Given the description of an element on the screen output the (x, y) to click on. 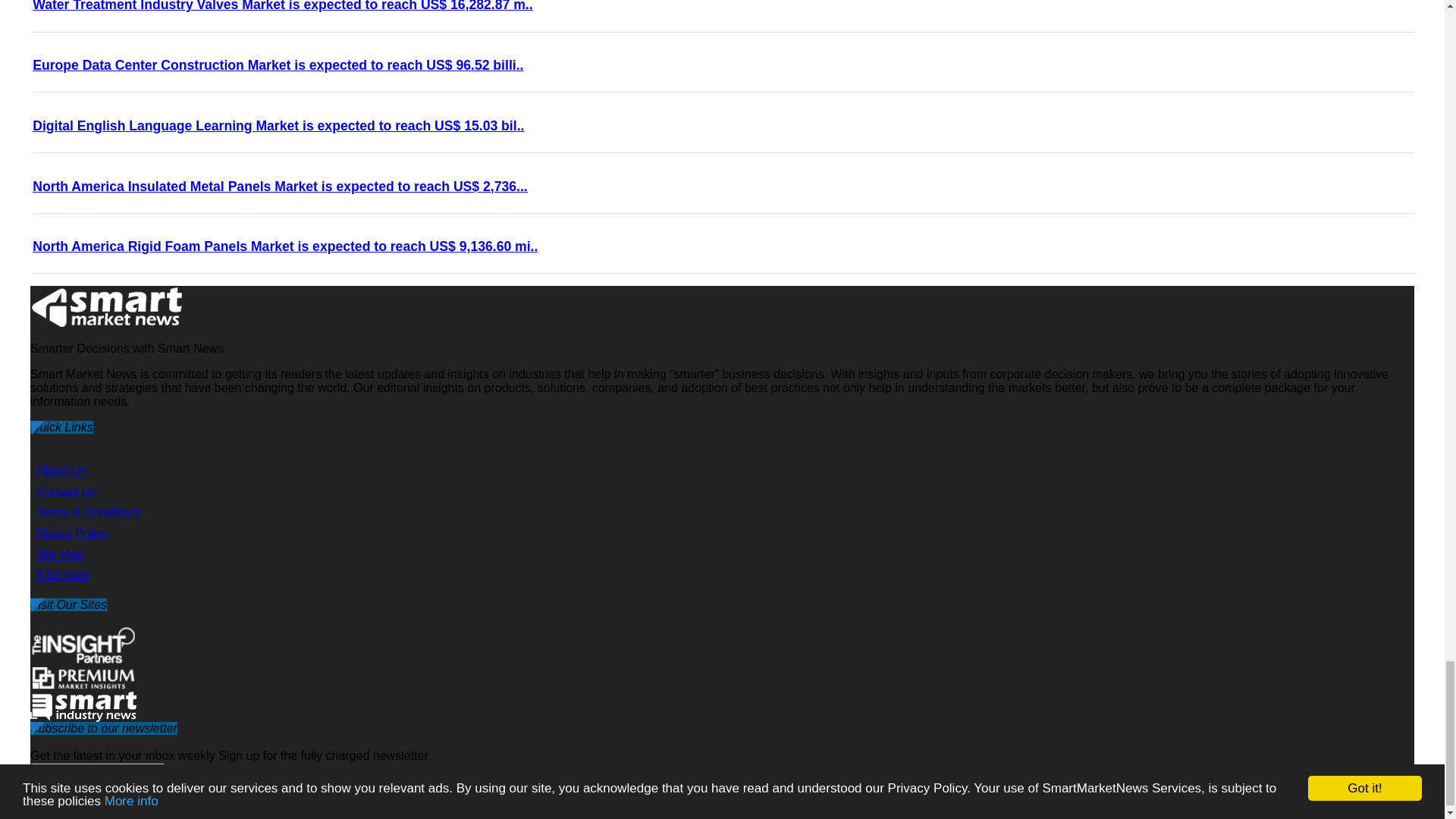
Sign Up (487, 803)
on (38, 801)
